Given the description of an element on the screen output the (x, y) to click on. 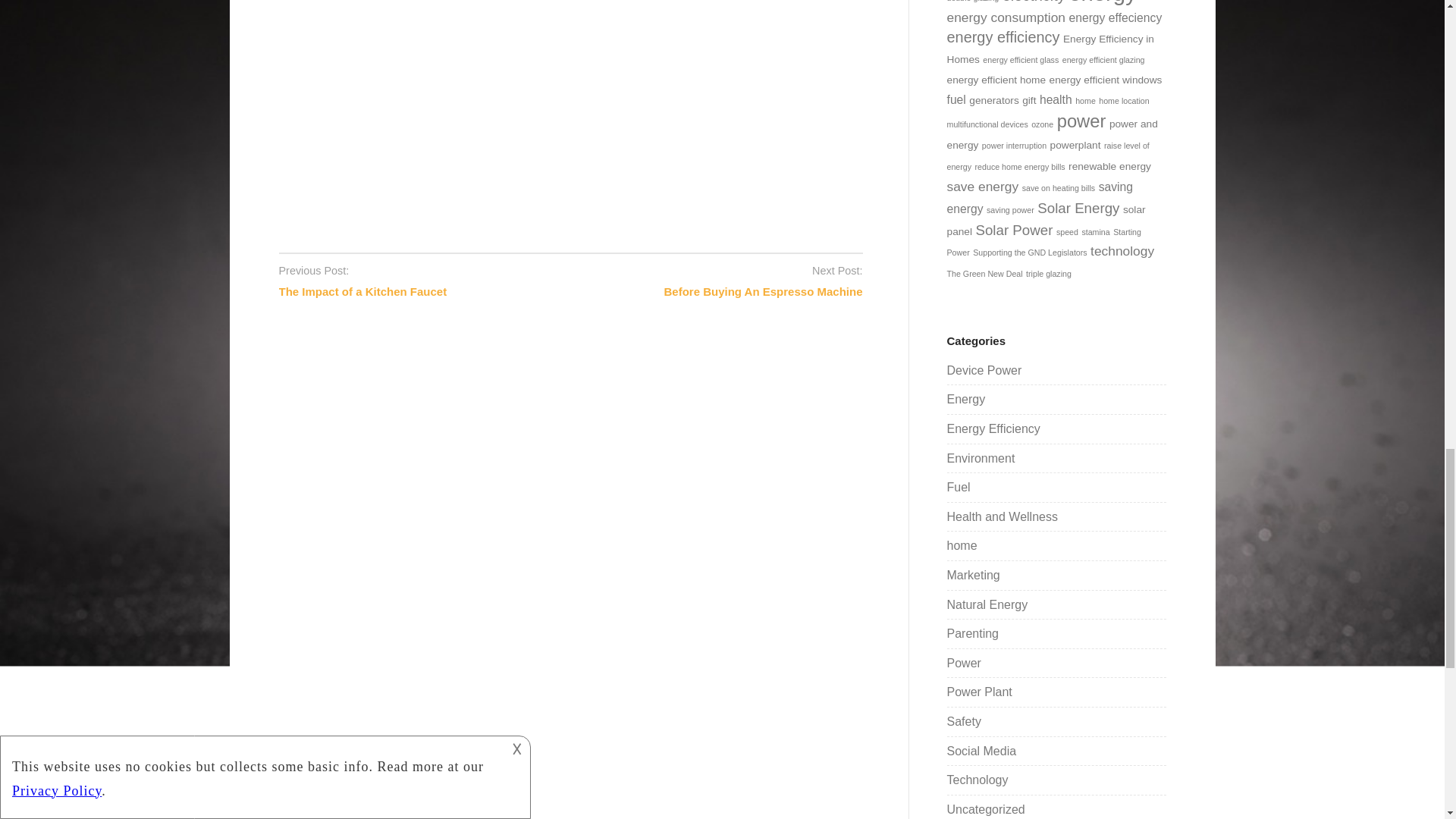
Before Buying An Espresso Machine (762, 291)
The Impact of a Kitchen Faucet (362, 291)
What is Dark Energy? (521, 102)
